Given the description of an element on the screen output the (x, y) to click on. 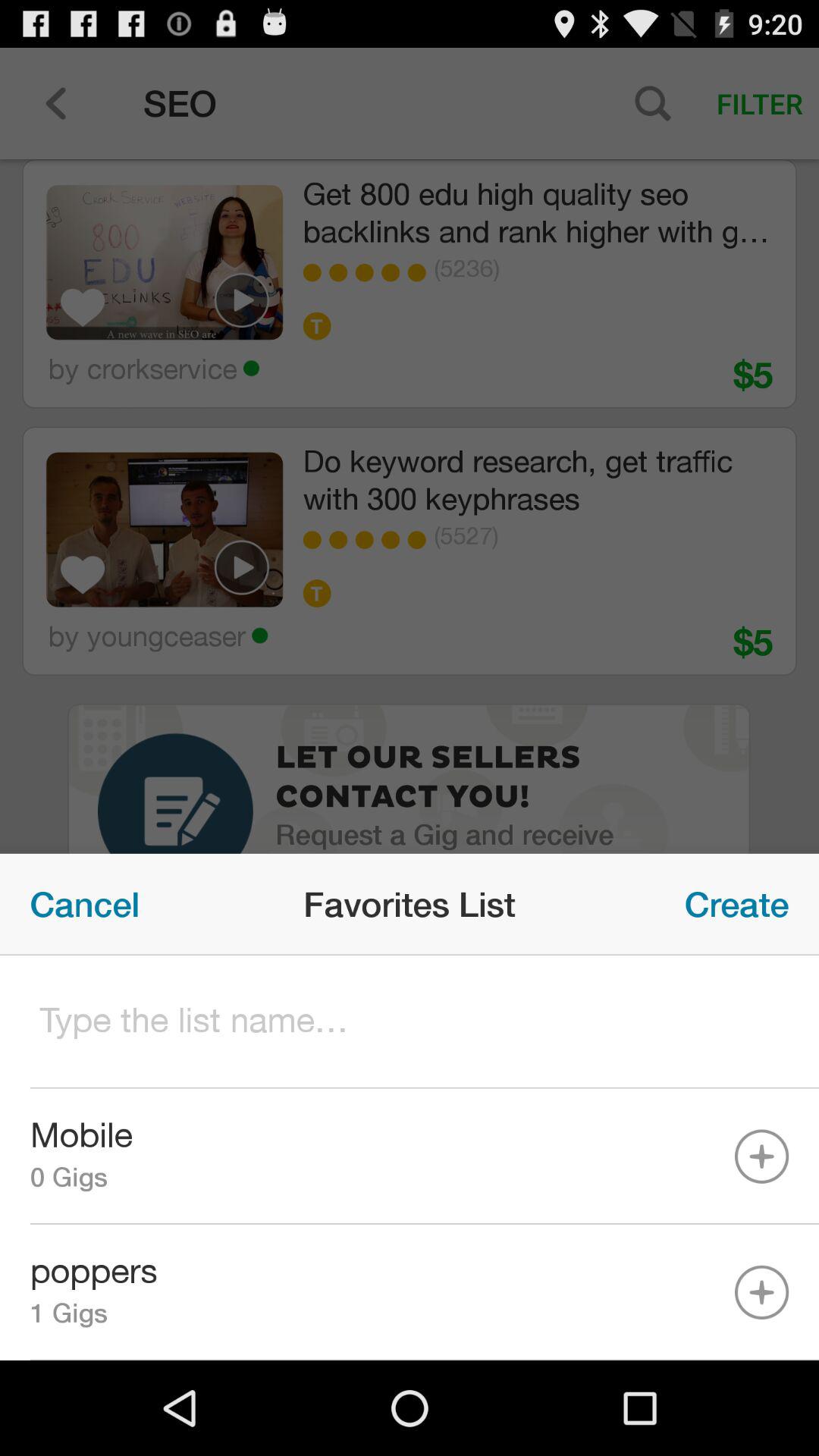
click the item next to favorites list item (736, 903)
